Given the description of an element on the screen output the (x, y) to click on. 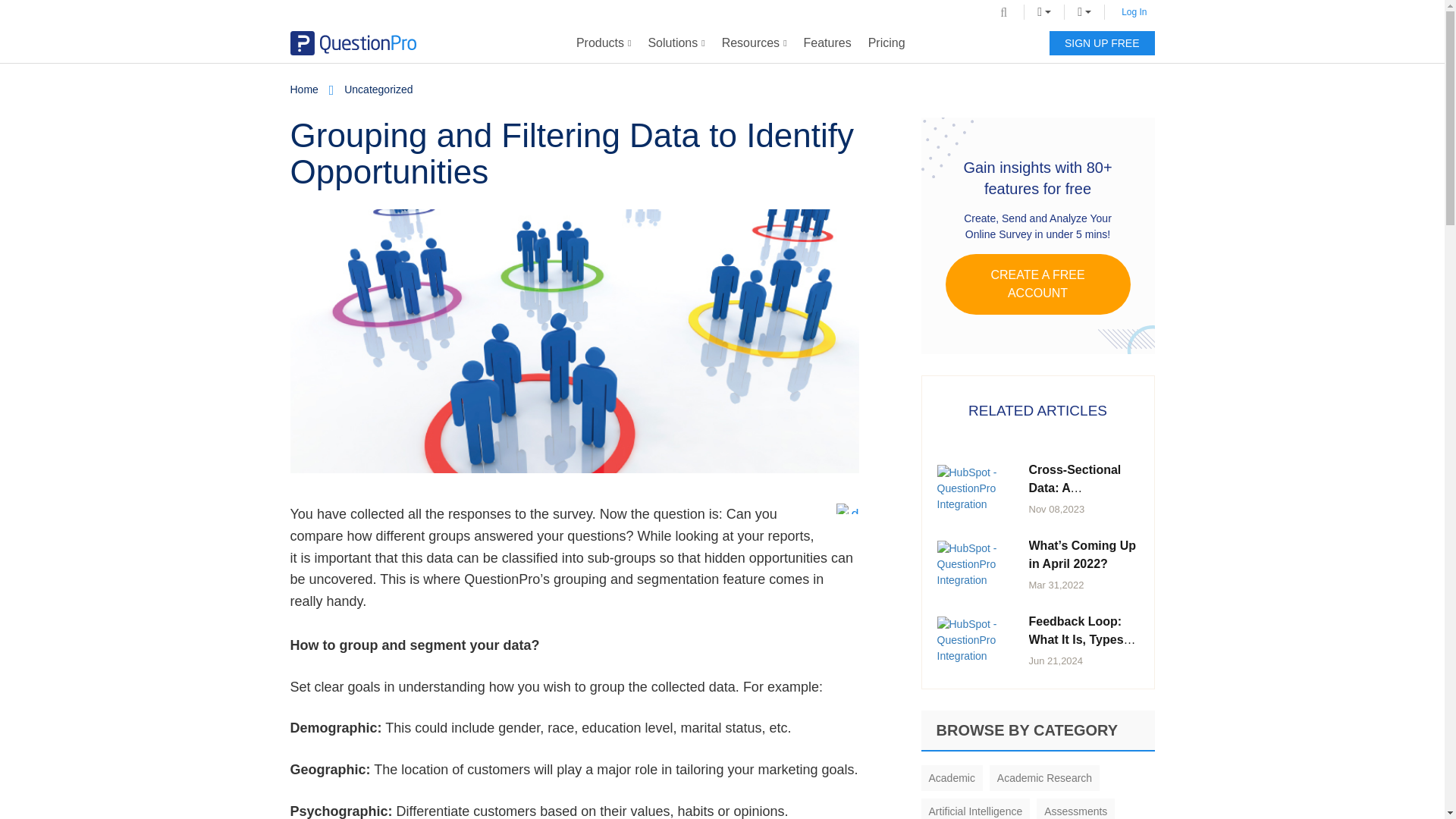
Products (603, 42)
Pricing (887, 42)
Solutions (676, 42)
Resources (753, 42)
Features (827, 42)
